Given the description of an element on the screen output the (x, y) to click on. 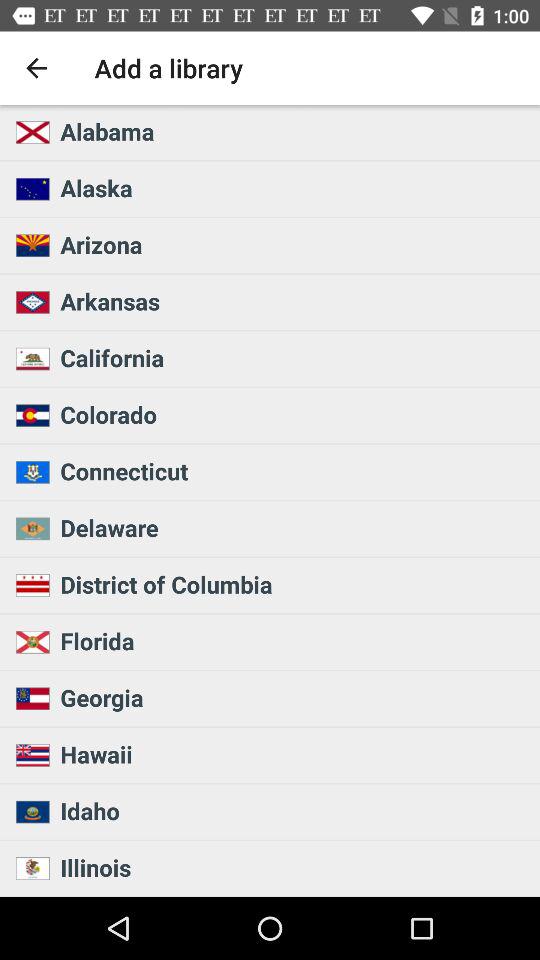
turn on the delaware (294, 527)
